Given the description of an element on the screen output the (x, y) to click on. 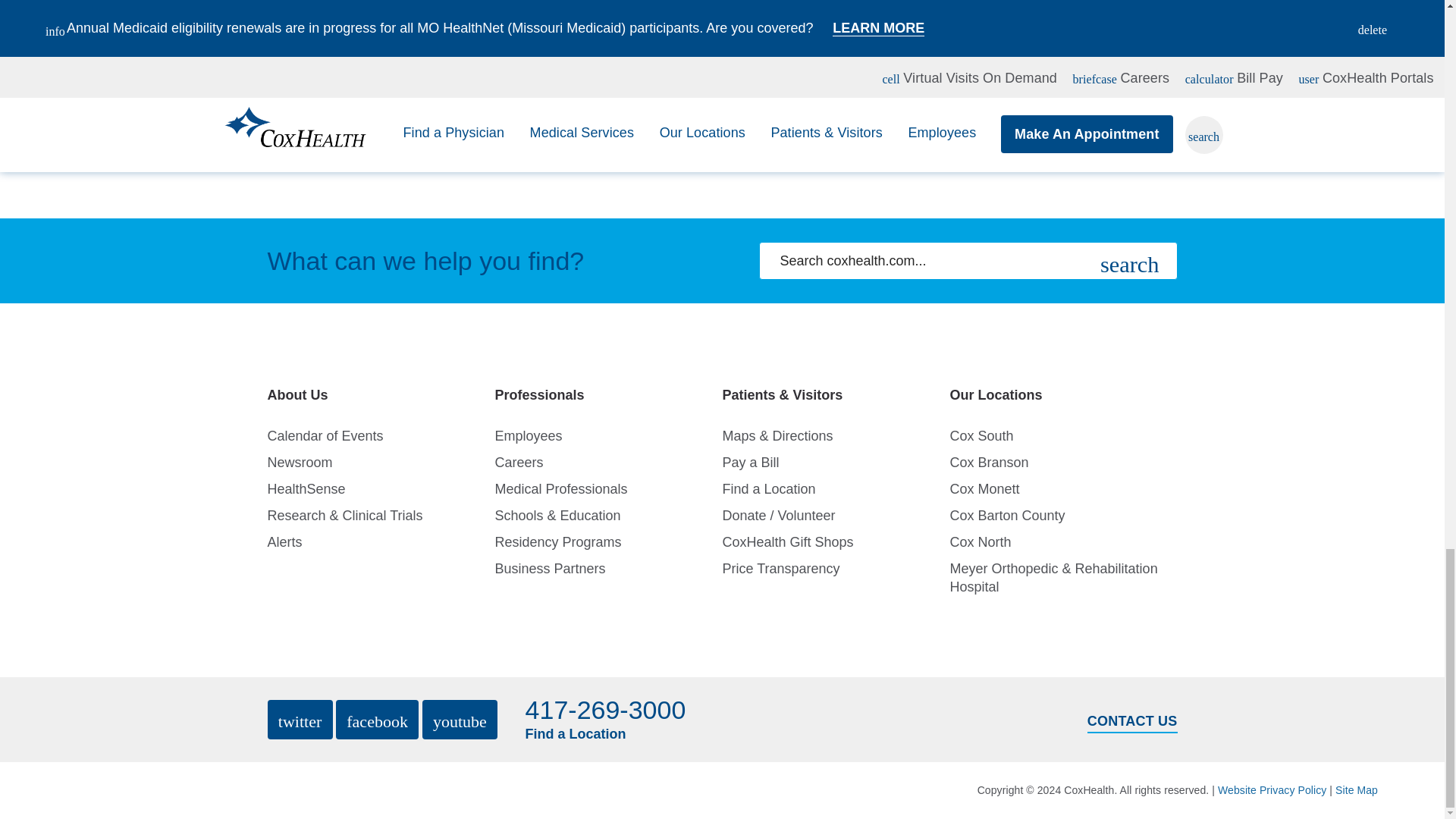
Youtube (459, 719)
Twitter (298, 719)
Facebook (377, 719)
